Given the description of an element on the screen output the (x, y) to click on. 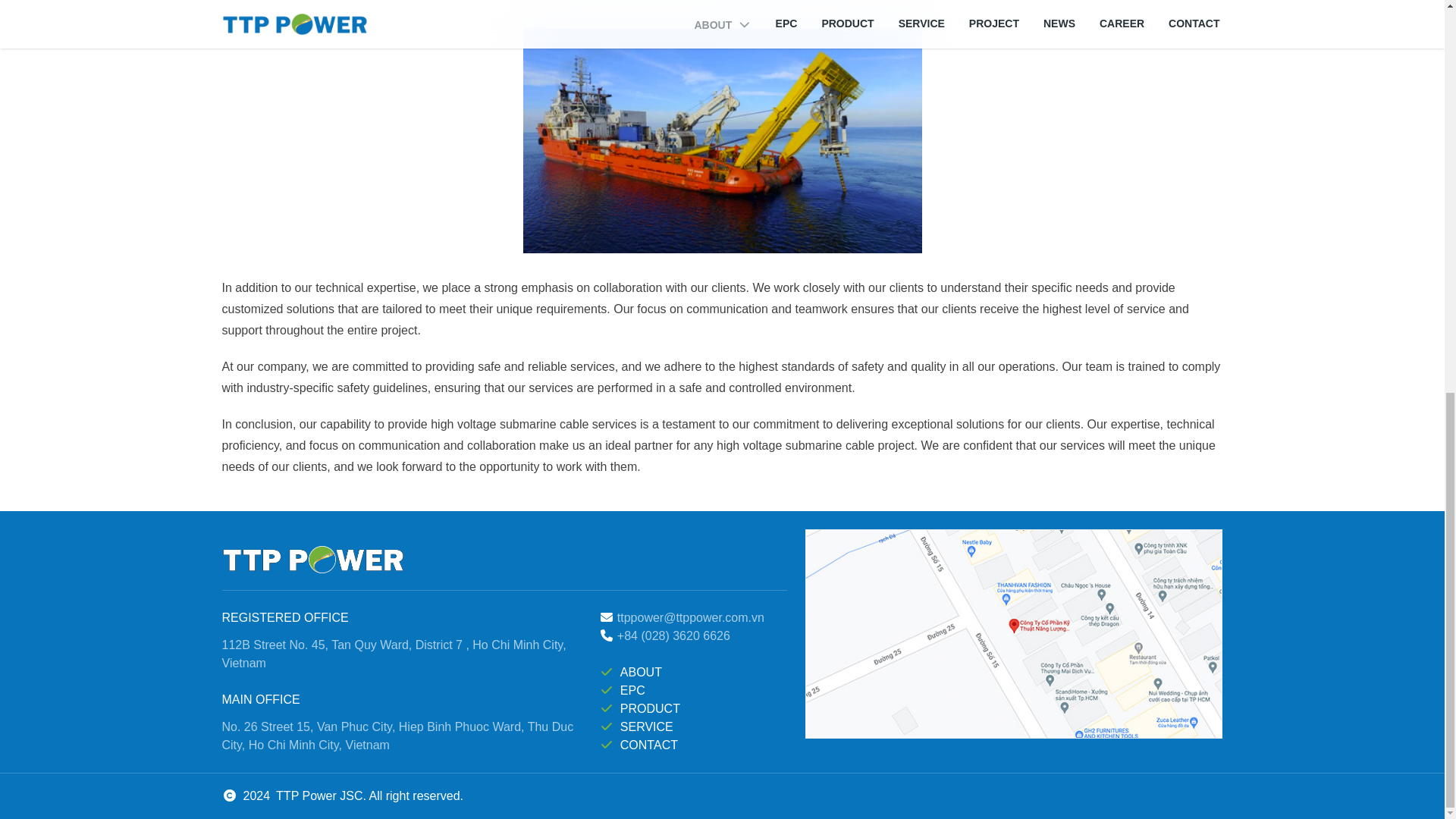
SERVICE (646, 726)
ABOUT (641, 671)
EPC (632, 689)
PRODUCT (649, 707)
CONTACT (649, 744)
